Given the description of an element on the screen output the (x, y) to click on. 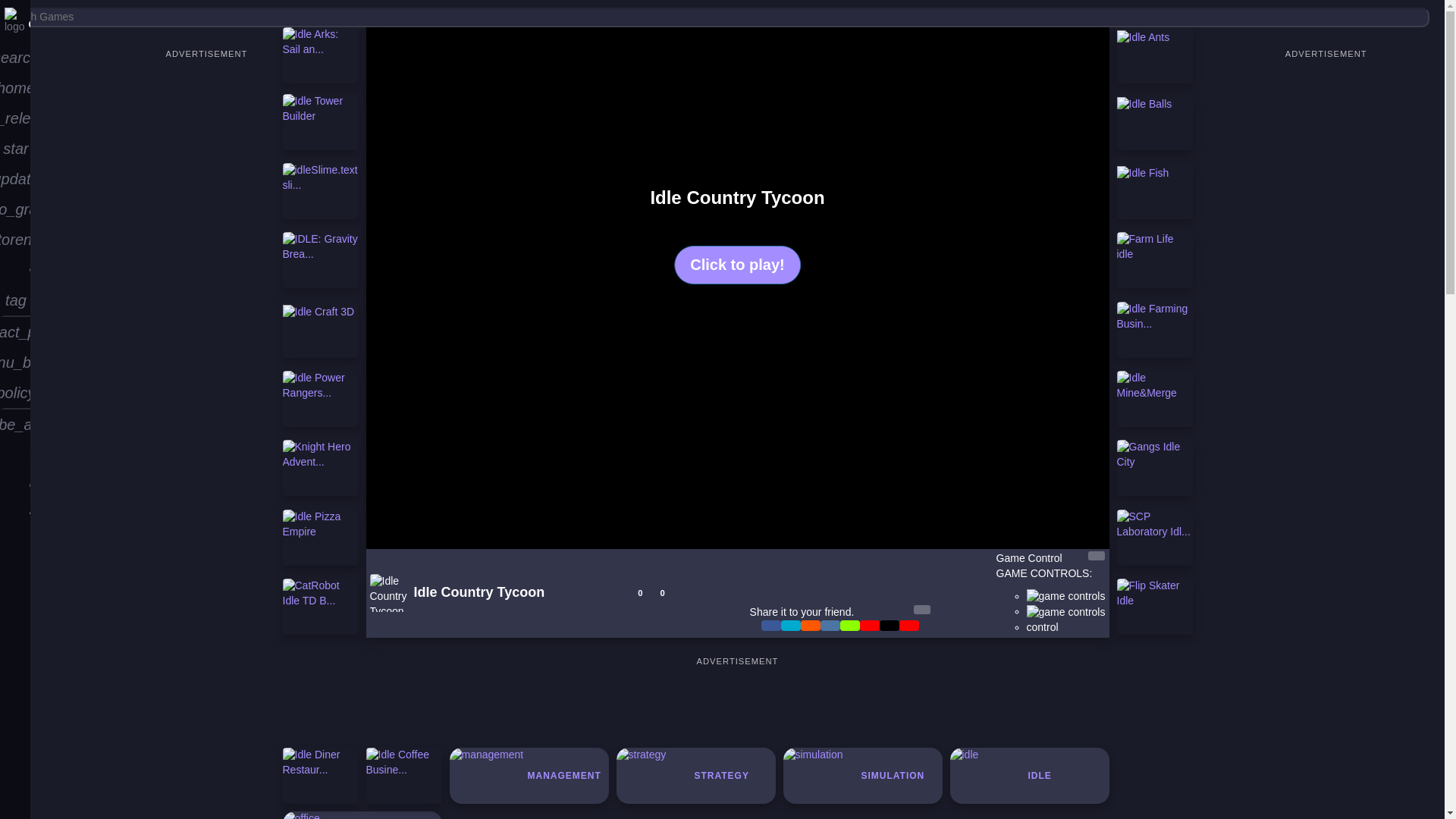
tag (15, 300)
discord (15, 485)
update (15, 178)
facebook (15, 515)
star (15, 148)
home (15, 87)
Click to play! (736, 264)
policy (15, 393)
search (15, 57)
our blog (15, 269)
